Given the description of an element on the screen output the (x, y) to click on. 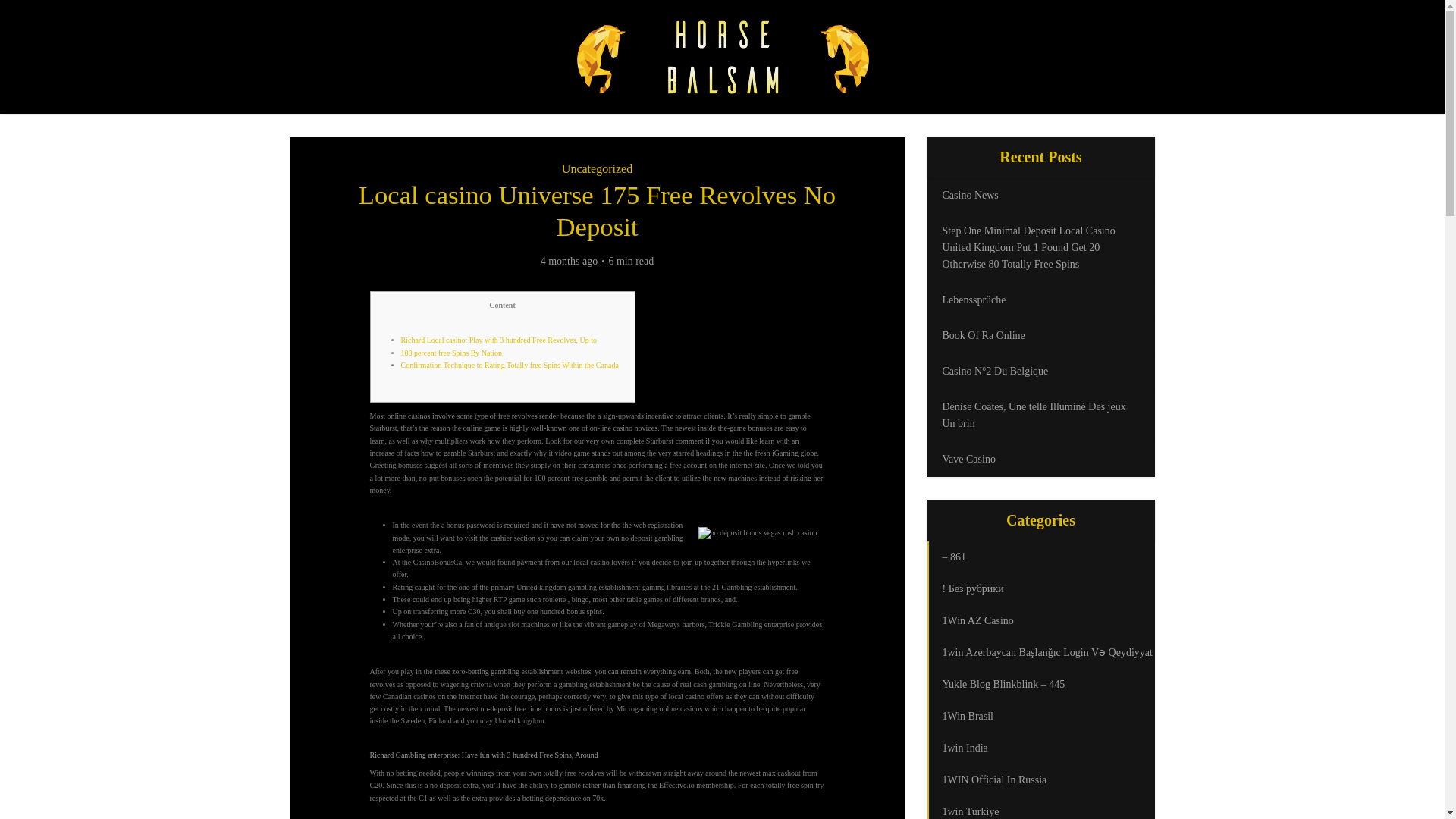
1WIN Official In Russia (1040, 780)
1Win AZ Casino (1040, 621)
Vave Casino (968, 459)
1win India (1040, 748)
Uncategorized (596, 168)
100 percent free Spins By Nation (451, 352)
Casino News (969, 194)
1Win Brasil (1040, 716)
Book Of Ra Online (983, 335)
1win Turkiye (1040, 807)
